Given the description of an element on the screen output the (x, y) to click on. 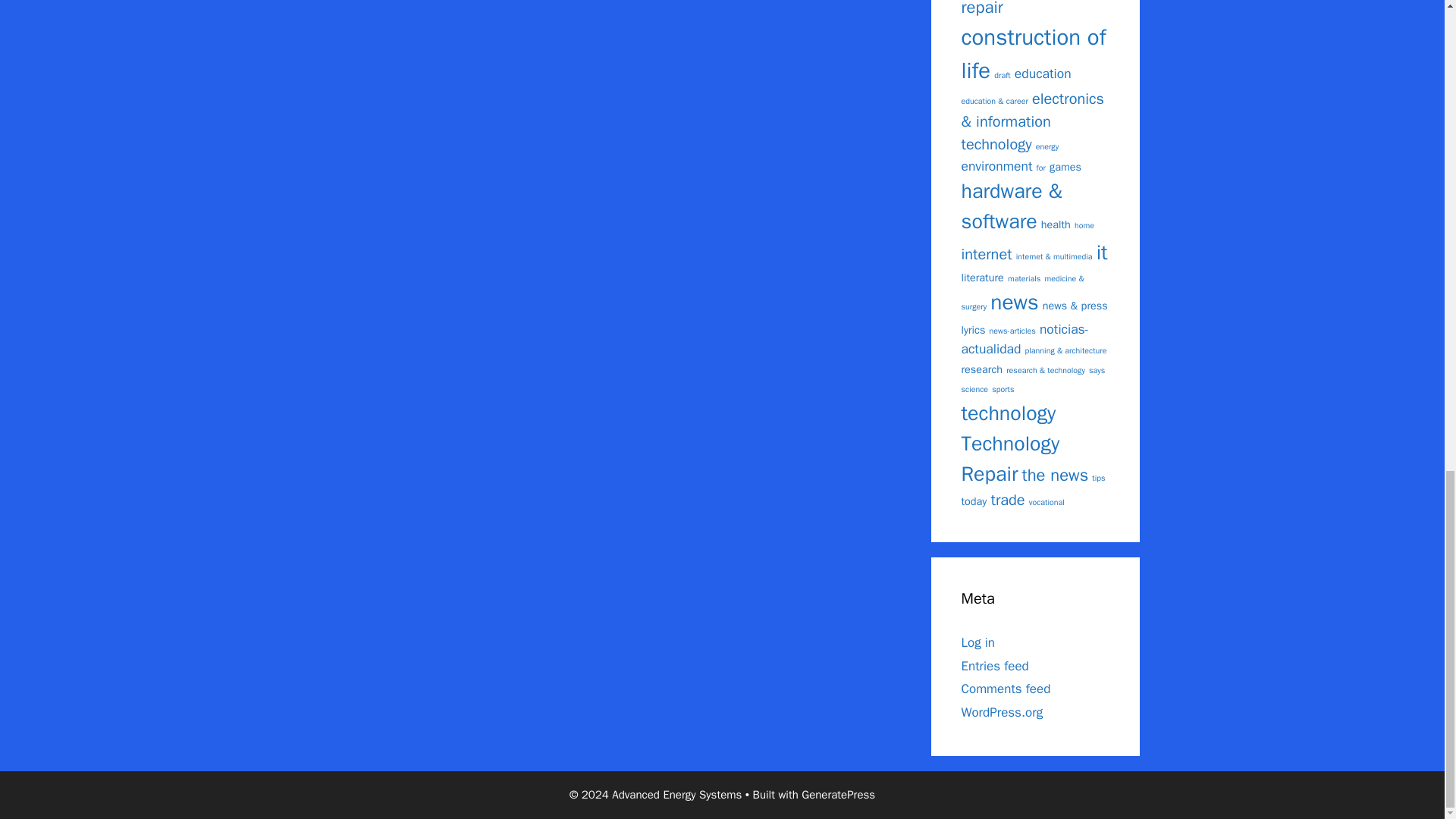
home (1084, 225)
education (1042, 73)
draft (1002, 75)
construction of life (1033, 54)
environment (996, 166)
for (1040, 167)
energy (1046, 146)
health (1055, 223)
construction and repair (1021, 9)
games (1065, 166)
